Given the description of an element on the screen output the (x, y) to click on. 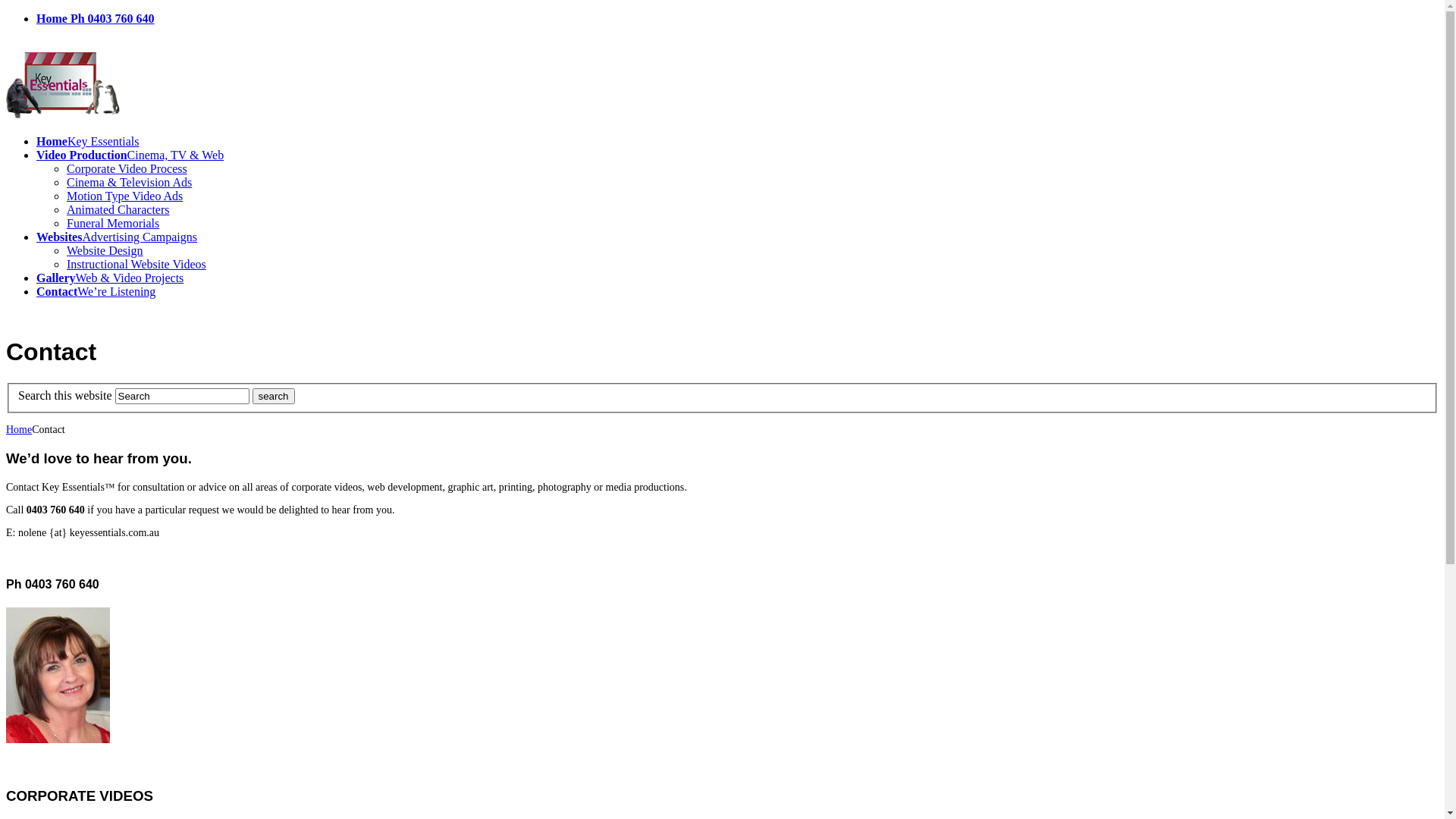
Motion Type Video Ads Element type: text (124, 195)
Home Element type: text (18, 429)
Cinema & Television Ads Element type: text (128, 181)
Video ProductionCinema, TV & Web Element type: text (129, 154)
search Element type: text (273, 396)
GalleryWeb & Video Projects Element type: text (109, 277)
HomeKey Essentials Element type: text (87, 140)
Funeral Memorials Element type: text (112, 222)
Animated Characters Element type: text (117, 209)
Home Ph 0403 760 640 Element type: text (95, 18)
Instructional Website Videos Element type: text (136, 263)
Website Design Element type: text (104, 250)
WebsitesAdvertising Campaigns Element type: text (116, 236)
Corporate Video Process Element type: text (126, 168)
